Given the description of an element on the screen output the (x, y) to click on. 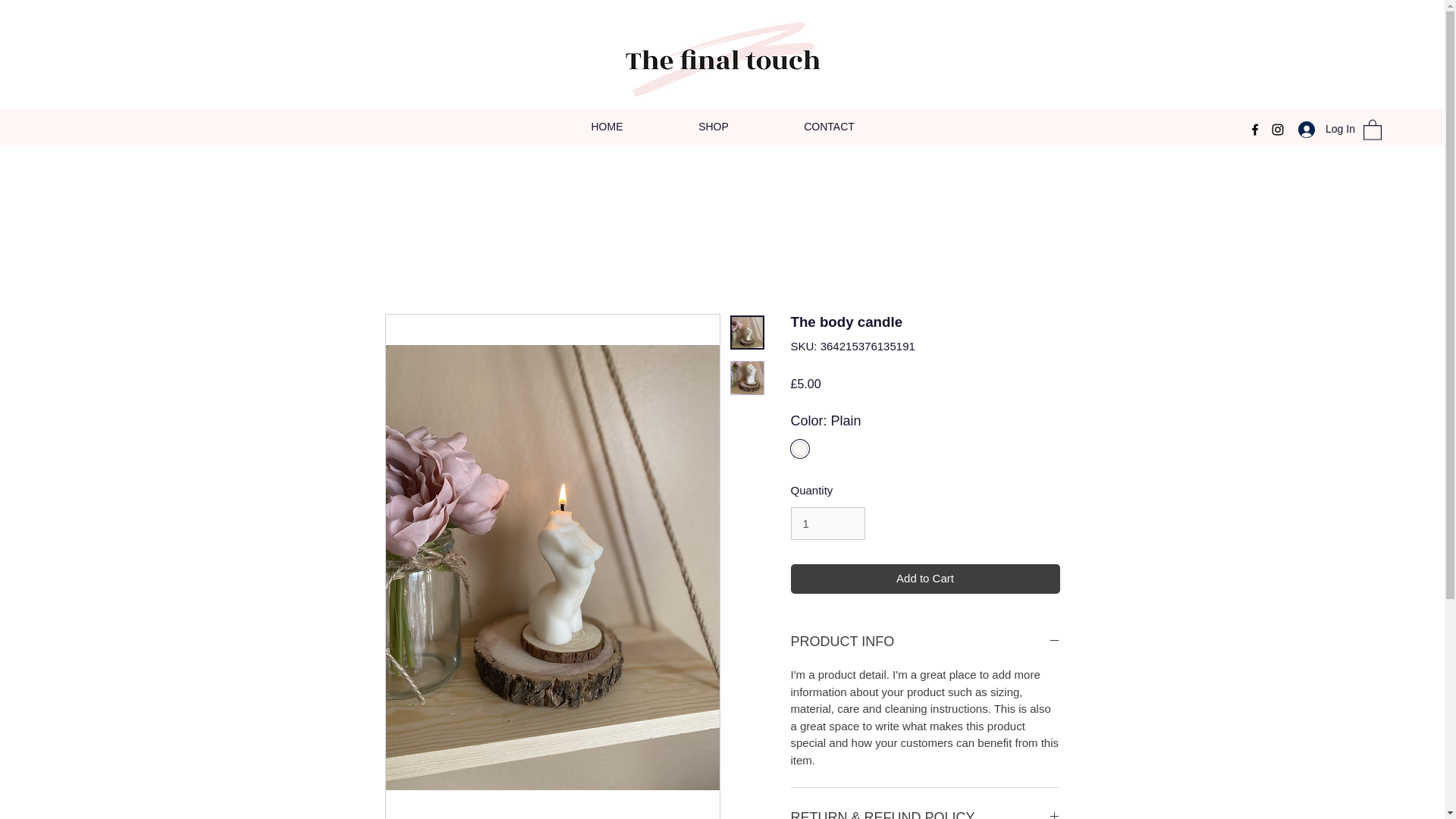
SHOP (714, 126)
HOME (607, 126)
CONTACT (828, 126)
PRODUCT INFO (924, 641)
Log In (1321, 129)
Add to Cart (924, 578)
1 (827, 523)
